Given the description of an element on the screen output the (x, y) to click on. 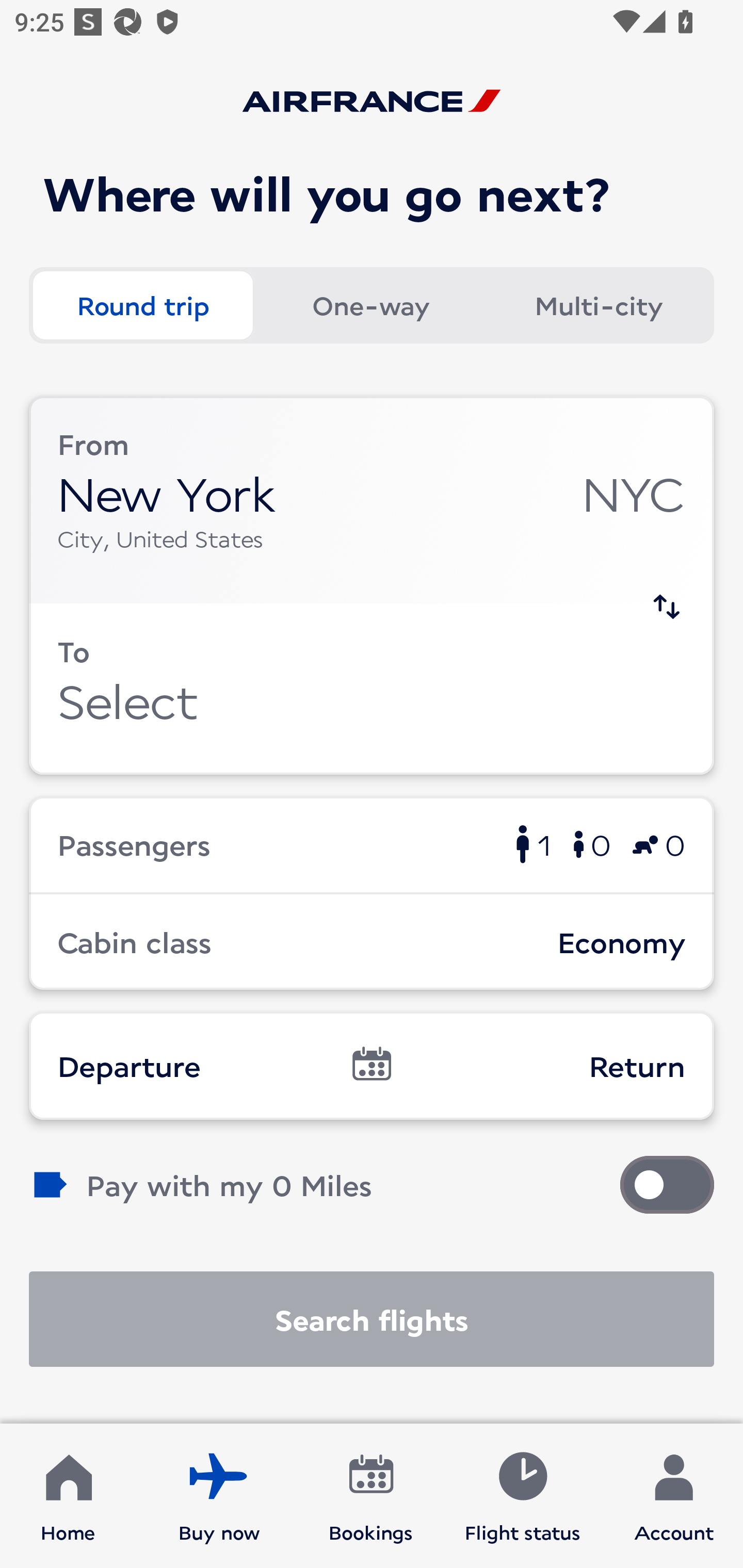
Round trip (142, 304)
One-way (370, 304)
Multi-city (598, 304)
From New York NYC City, United States (371, 499)
To Select (371, 688)
Passengers 1 0 0 (371, 844)
Cabin class Economy (371, 941)
Departure Return (371, 1065)
Search flights (371, 1319)
Home (68, 1495)
Bookings (370, 1495)
Flight status (522, 1495)
Account (674, 1495)
